Given the description of an element on the screen output the (x, y) to click on. 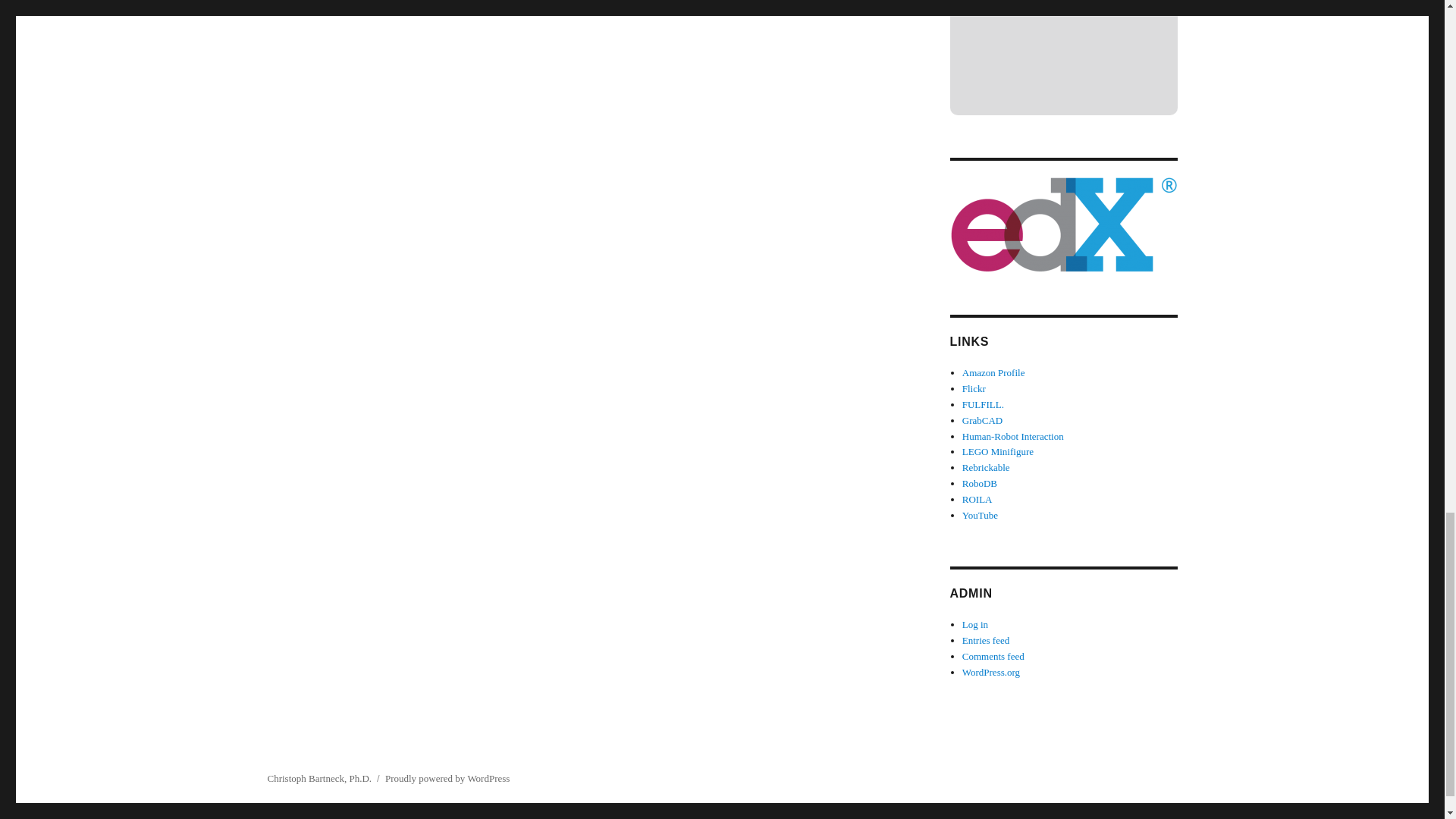
The home of the HRI book and the podcast.  (1013, 436)
My Rebrickable Profile (986, 467)
A database of robots (979, 482)
The Robot Interaction Language (977, 499)
My YouTube Channel (979, 514)
My Flickr Stream (973, 388)
Complete the illustrations and unwind your mind. (983, 404)
My Amazon Author Profile (993, 372)
My GrabCAD Profile (982, 419)
The Unofficial LEGO Minifigure Catalog (997, 451)
